Given the description of an element on the screen output the (x, y) to click on. 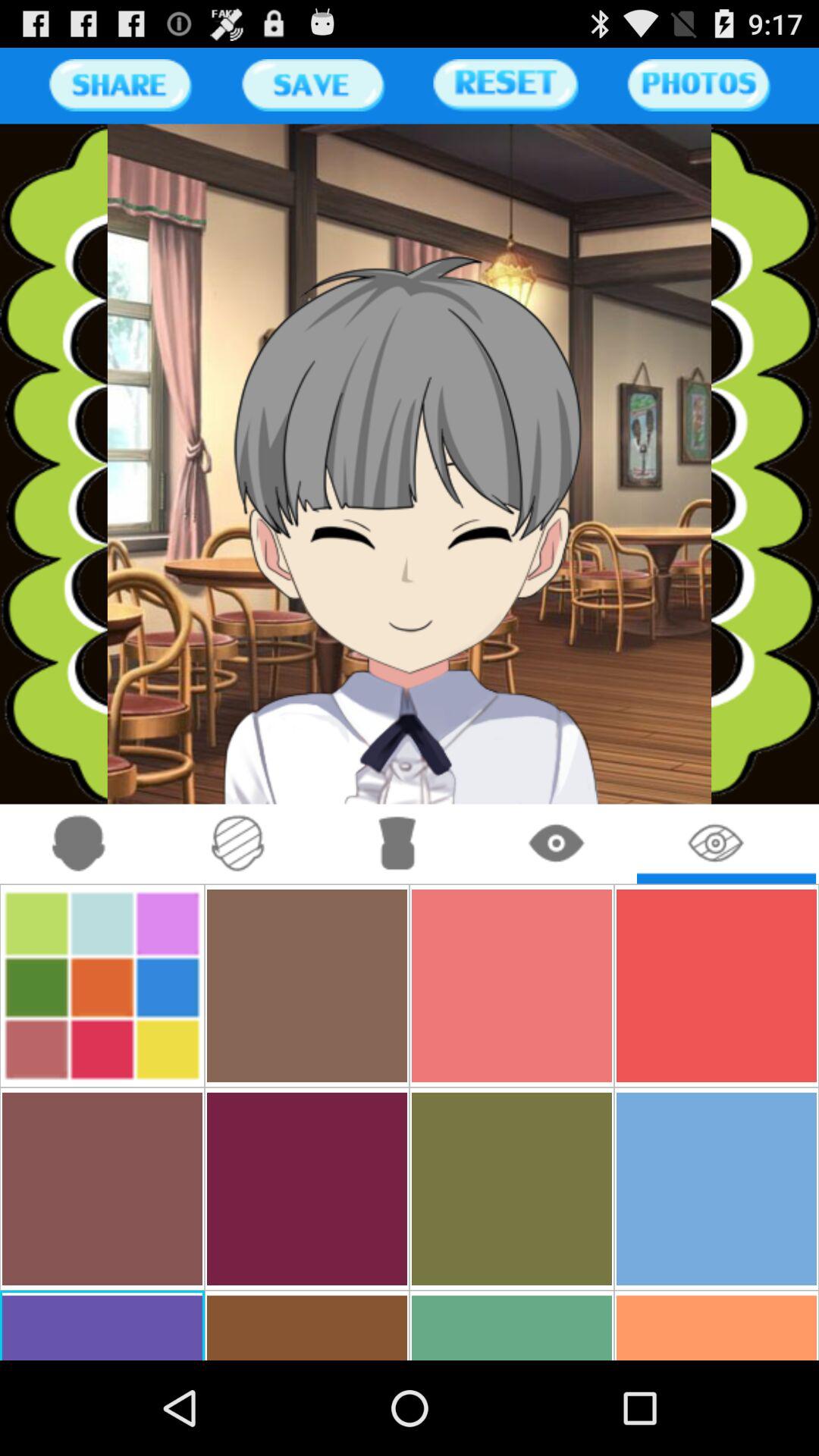
switch painting preferences (238, 843)
